Given the description of an element on the screen output the (x, y) to click on. 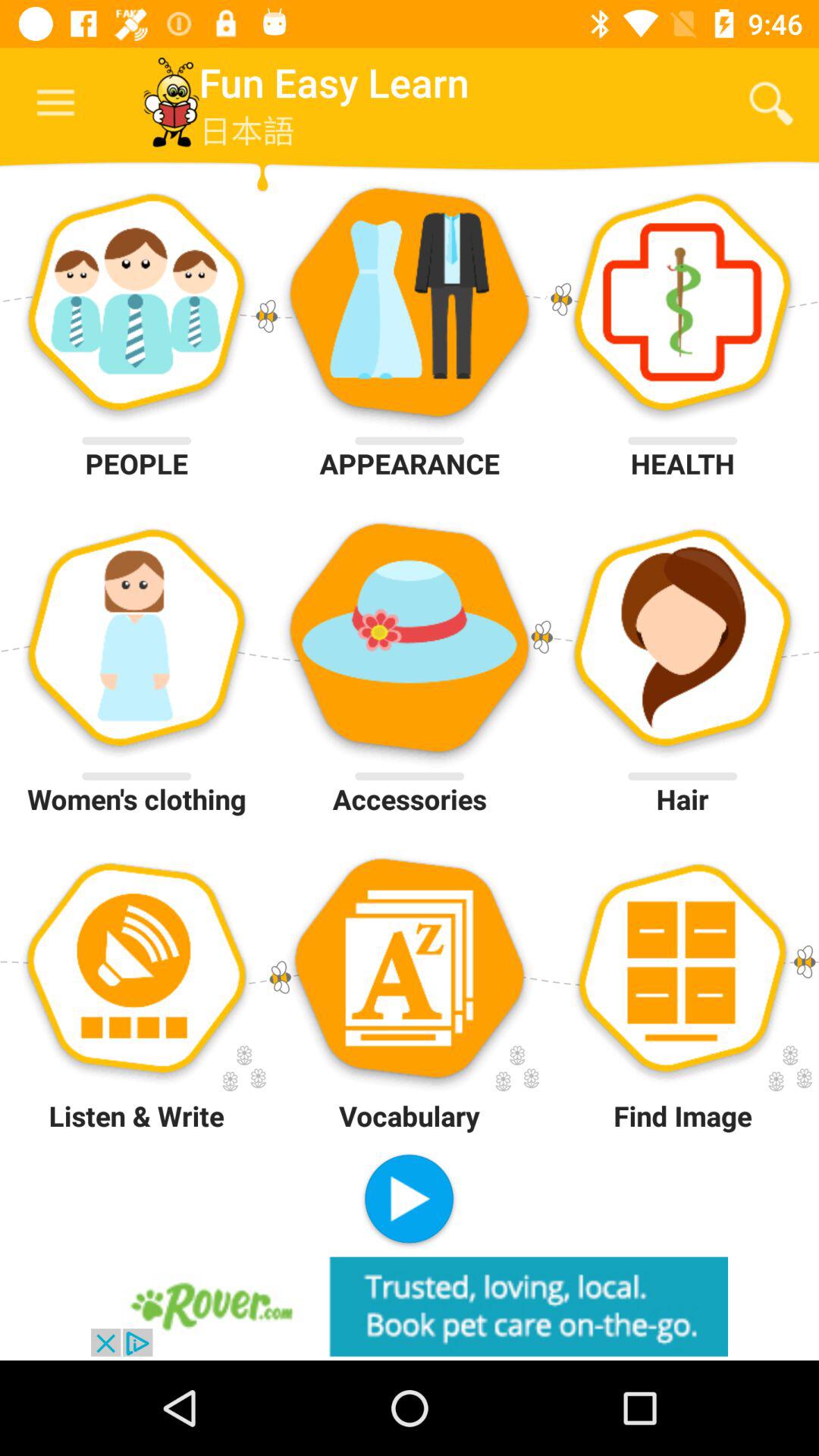
turn on the item to the left of the find image item (408, 1200)
